Given the description of an element on the screen output the (x, y) to click on. 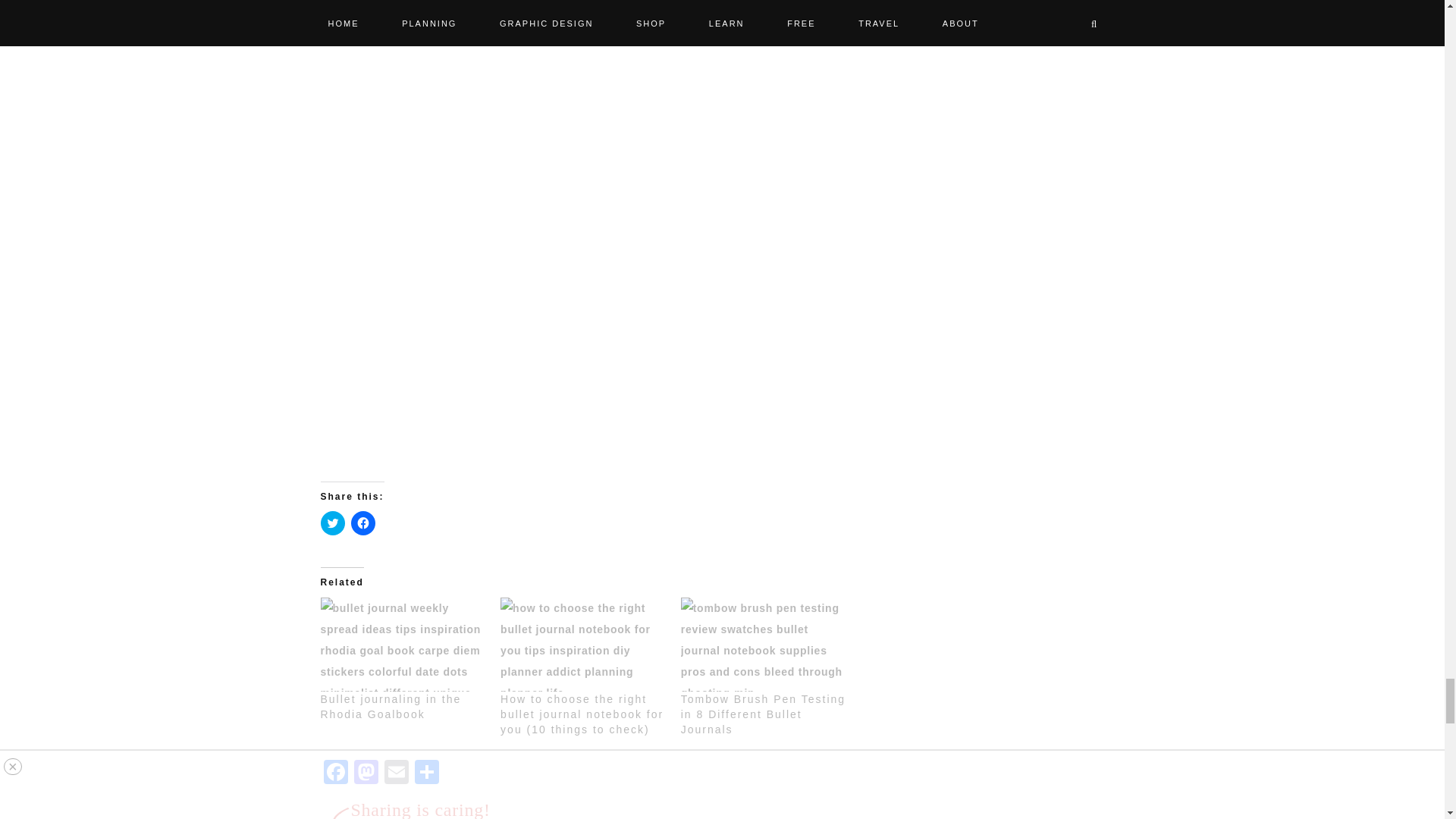
Click to share on Twitter (331, 523)
Bullet journaling in the Rhodia Goalbook (402, 644)
Click to share on Facebook (362, 523)
Bullet journaling in the Rhodia Goalbook (390, 706)
